Given the description of an element on the screen output the (x, y) to click on. 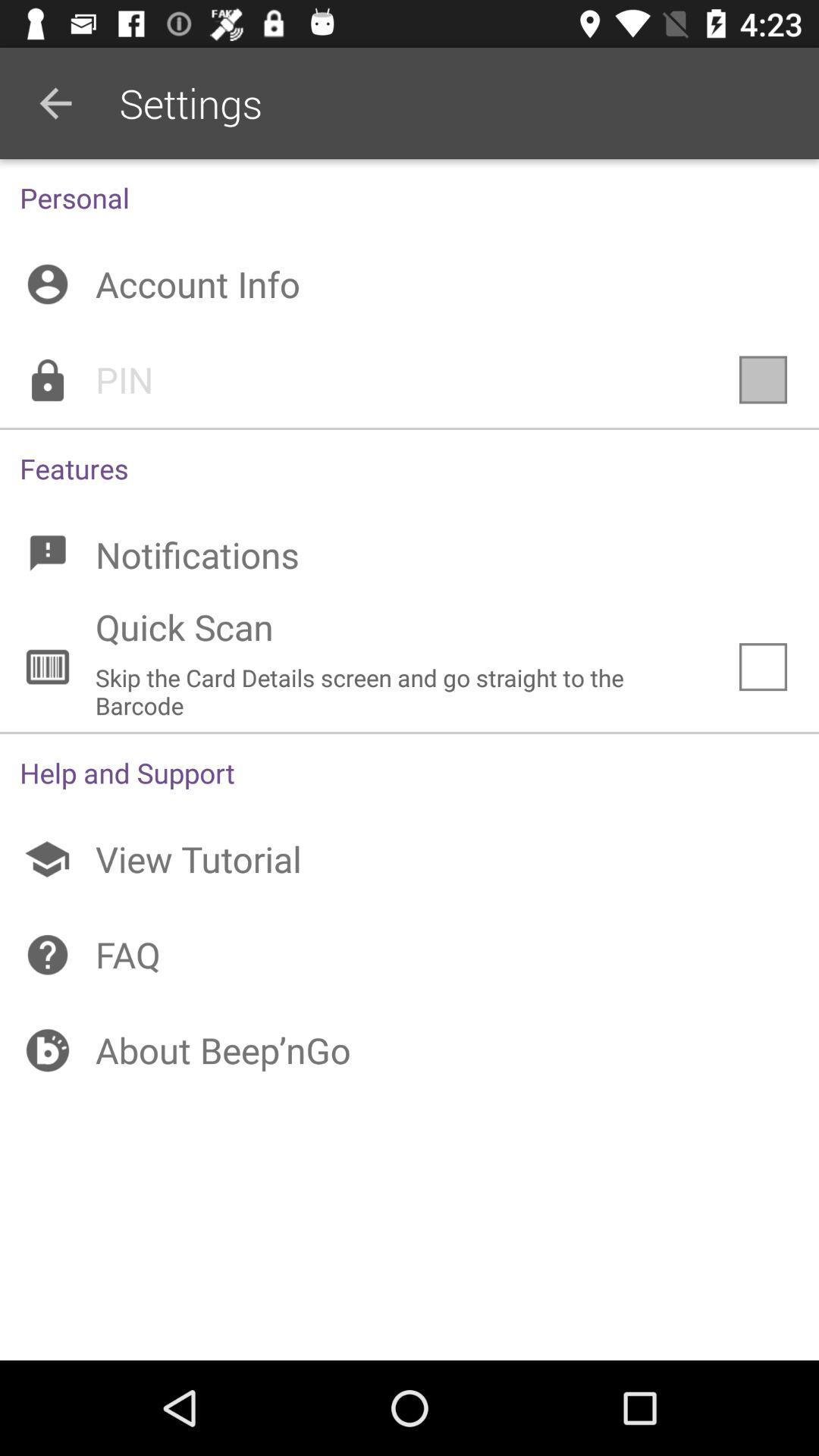
tap item above personal (55, 103)
